Given the description of an element on the screen output the (x, y) to click on. 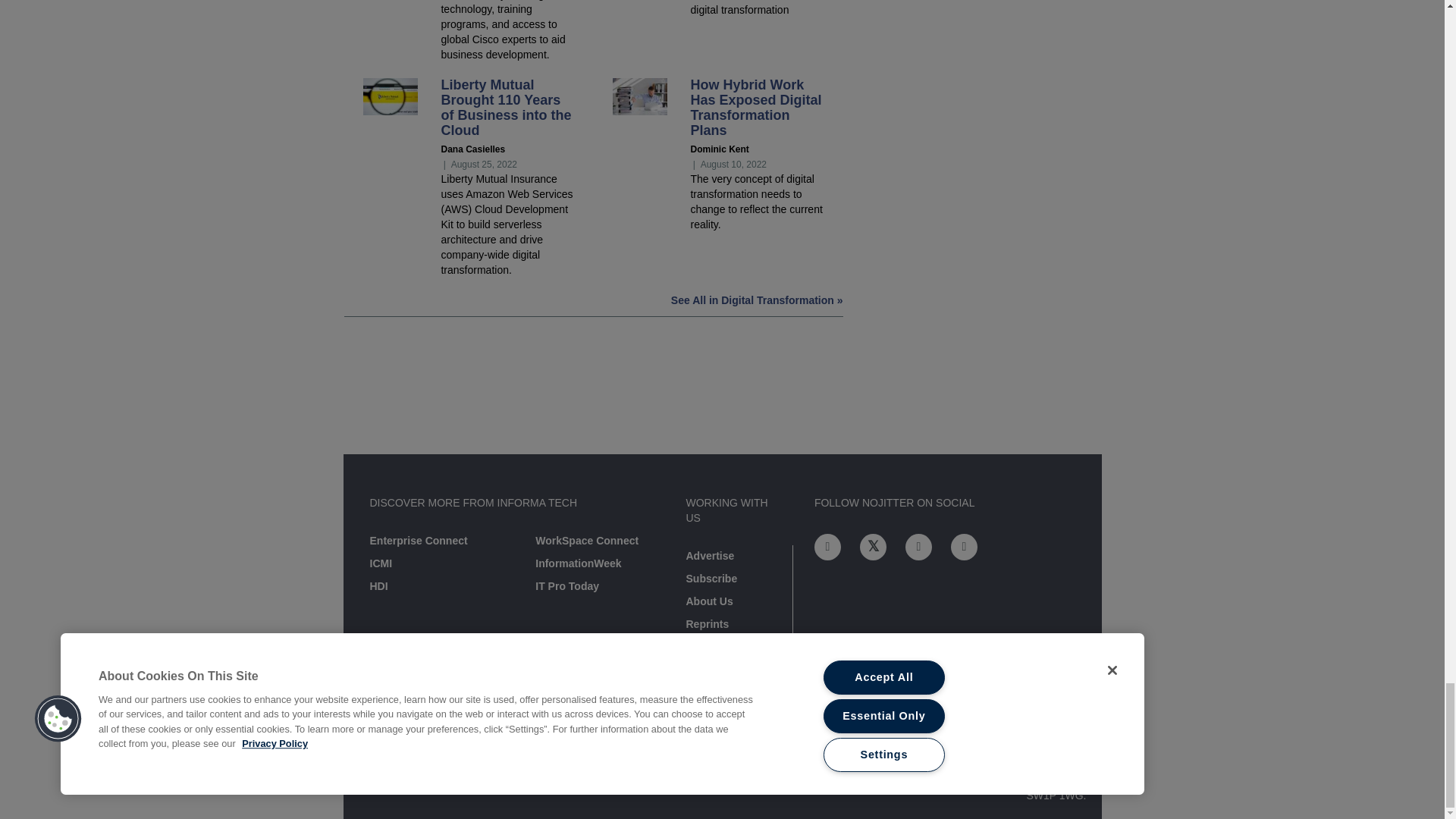
3rd party ad content (721, 404)
